Given the description of an element on the screen output the (x, y) to click on. 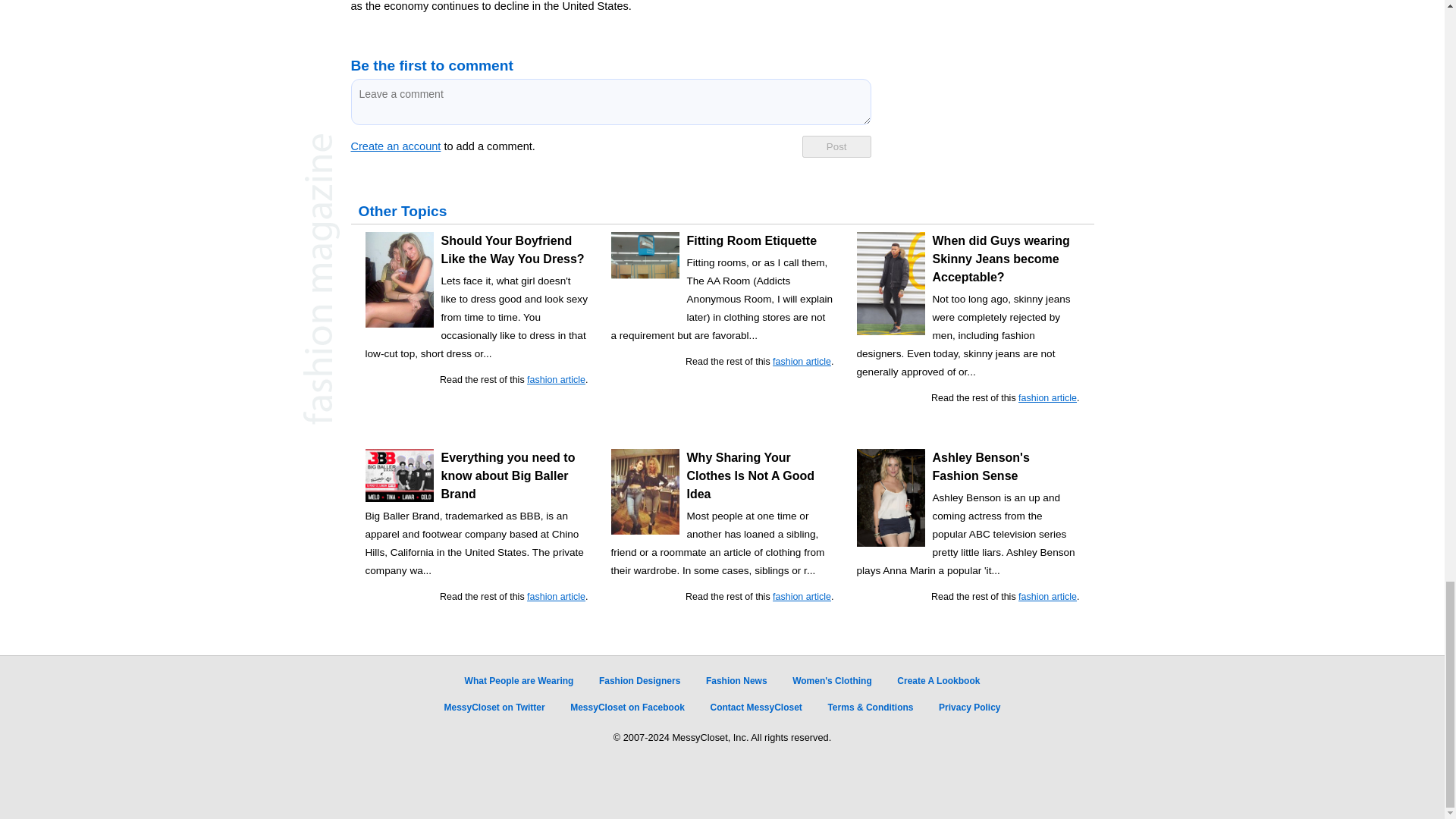
Create an account (395, 146)
Post (836, 146)
Read the latest microblogs from MessyCloset (494, 706)
